Given the description of an element on the screen output the (x, y) to click on. 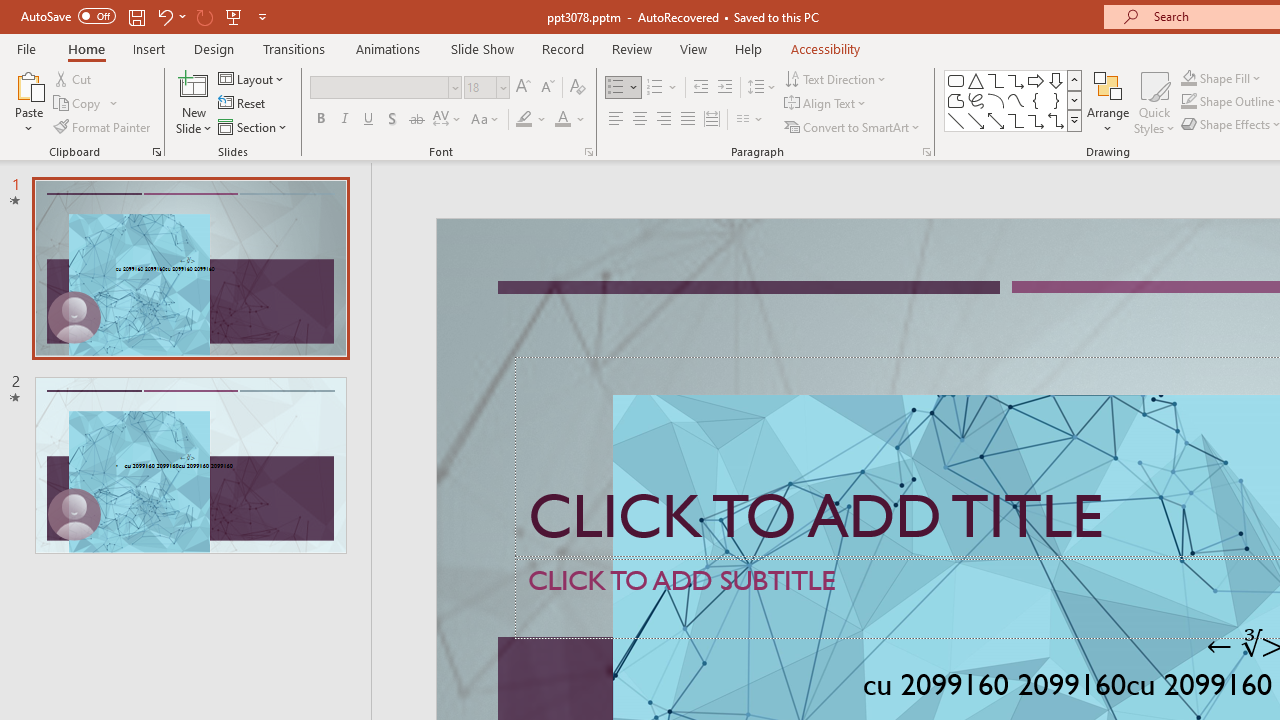
Decrease Font Size (547, 87)
Reset (243, 103)
Align Text (826, 103)
Left Brace (1035, 100)
Font Size (486, 87)
Connector: Elbow Double-Arrow (1055, 120)
Accessibility (825, 48)
